Given the description of an element on the screen output the (x, y) to click on. 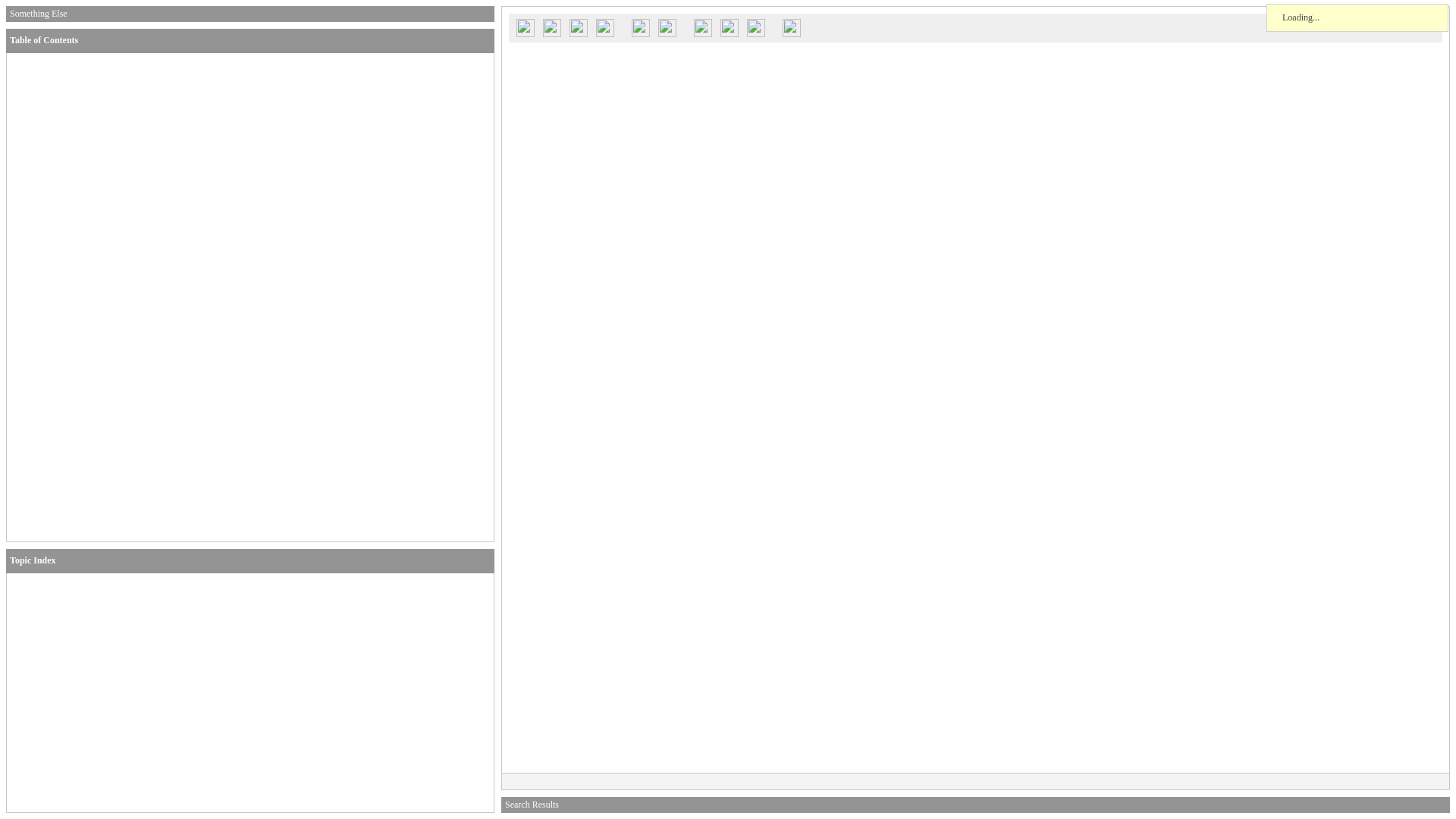
Settings (755, 27)
Previous Document (578, 27)
Highlight Text (703, 27)
Login (551, 27)
Next Document (604, 27)
Previous Search Hit (640, 27)
Search (525, 27)
Next Search Hit (666, 27)
Help (791, 27)
Bookmark (729, 27)
